Given the description of an element on the screen output the (x, y) to click on. 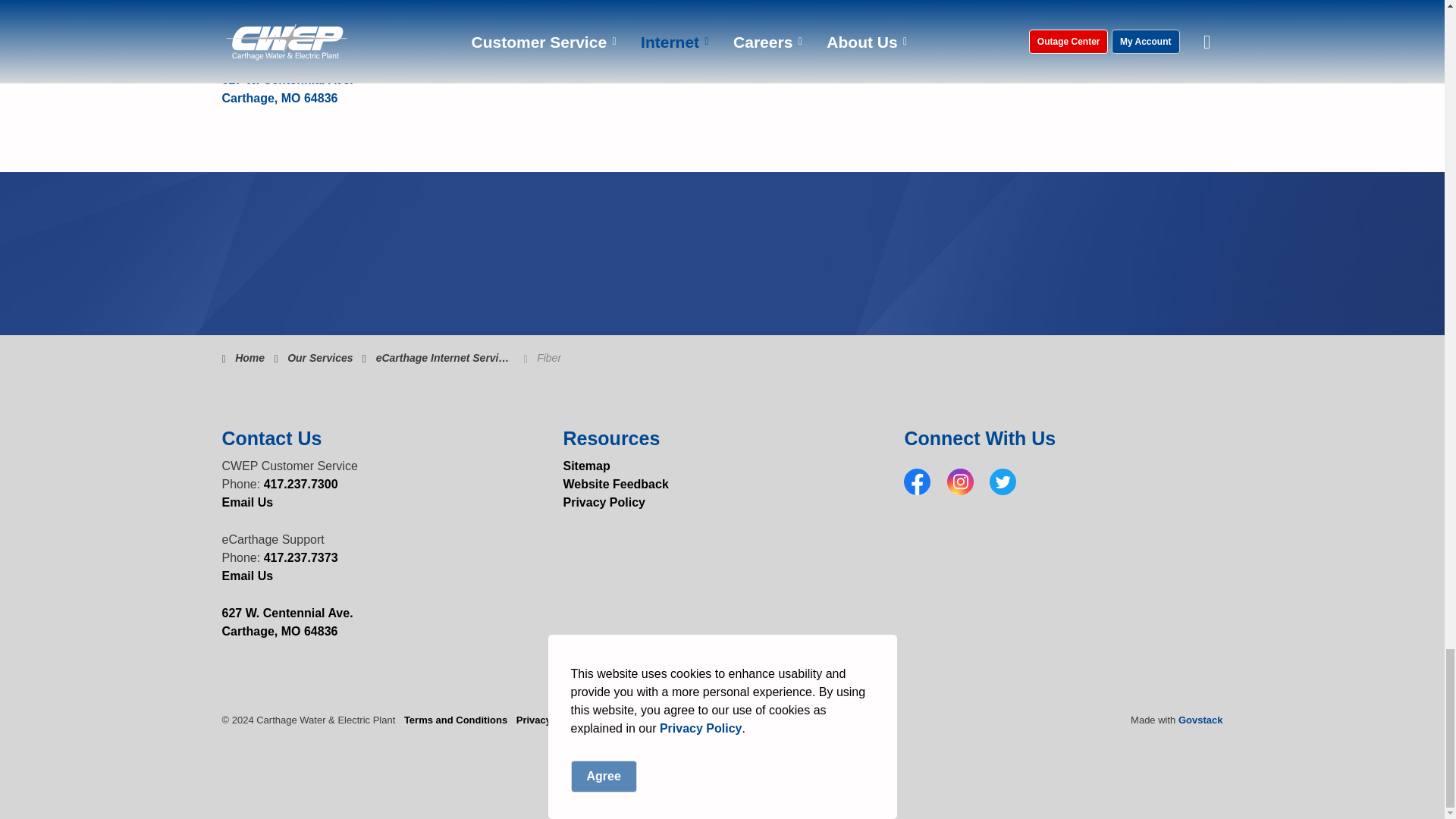
Privacy Policy (603, 502)
Email Us (247, 42)
Email Us (247, 575)
Sitemap (586, 465)
